Given the description of an element on the screen output the (x, y) to click on. 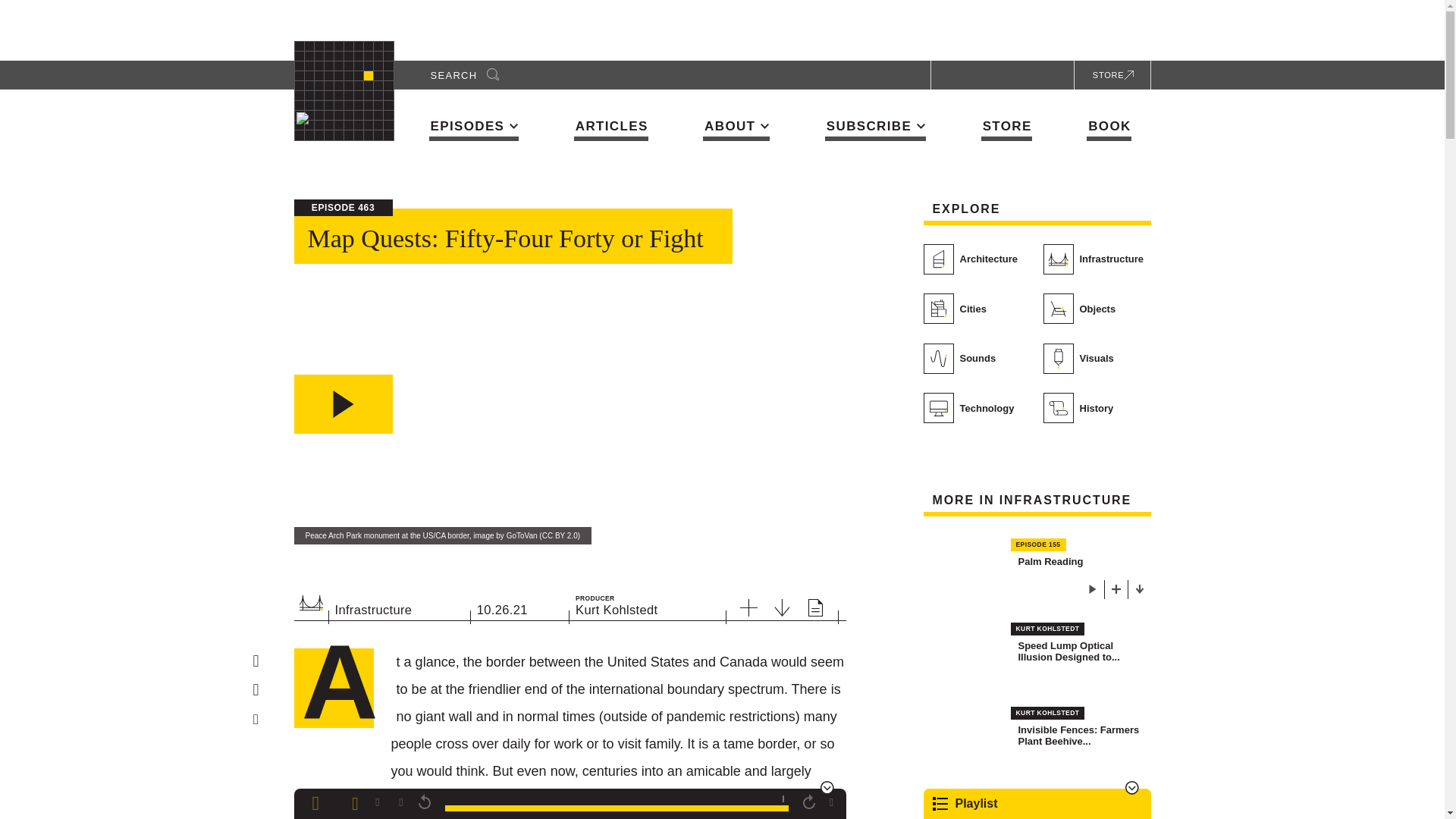
SUBSCRIBE (875, 128)
STORE (1109, 74)
Search for: (458, 74)
ARTICLES (610, 129)
STORE (1006, 129)
BOOK (1108, 129)
EPISODES (474, 128)
ABOUT (736, 128)
